Given the description of an element on the screen output the (x, y) to click on. 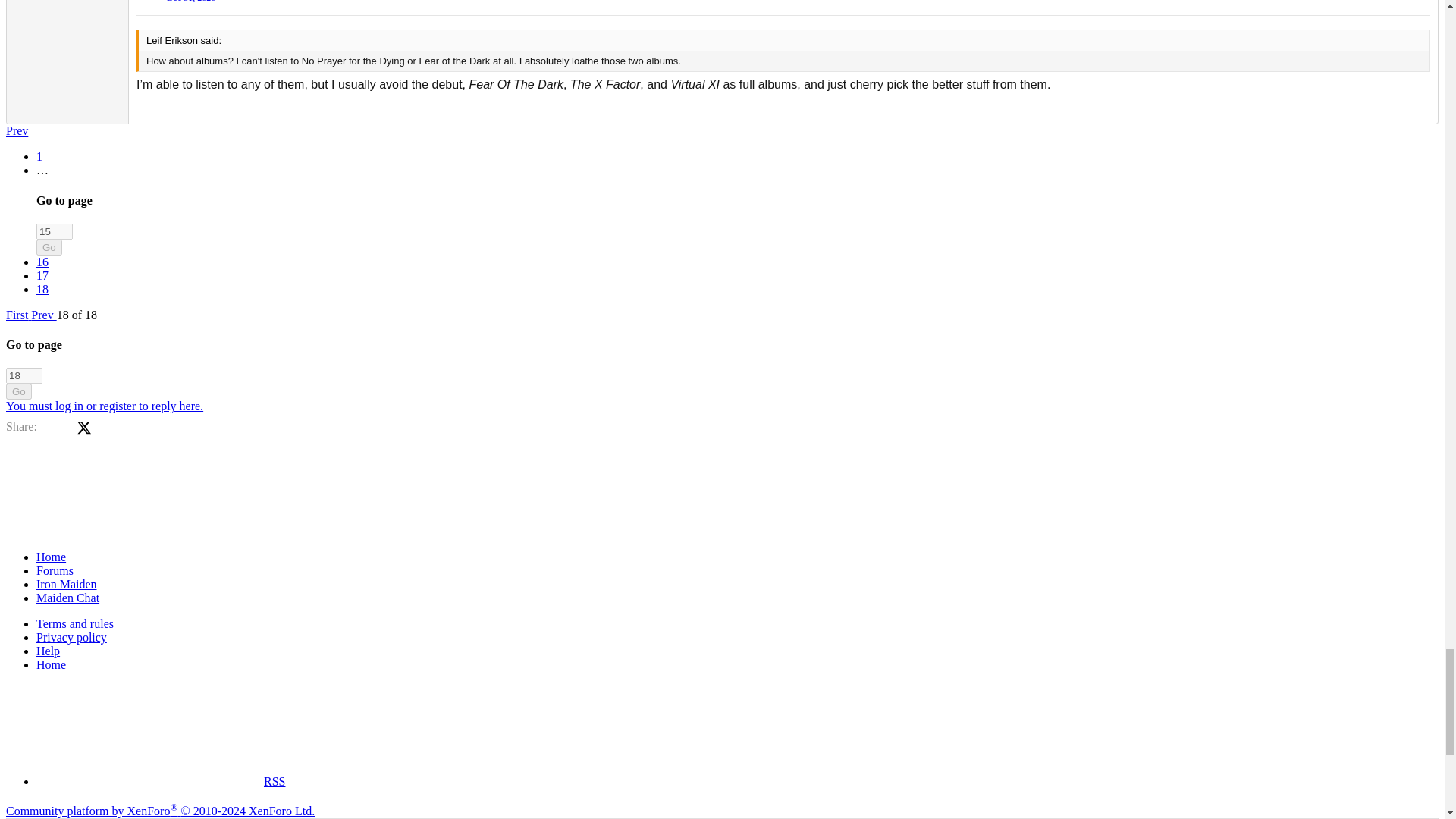
15 (54, 231)
18 (23, 375)
